Given the description of an element on the screen output the (x, y) to click on. 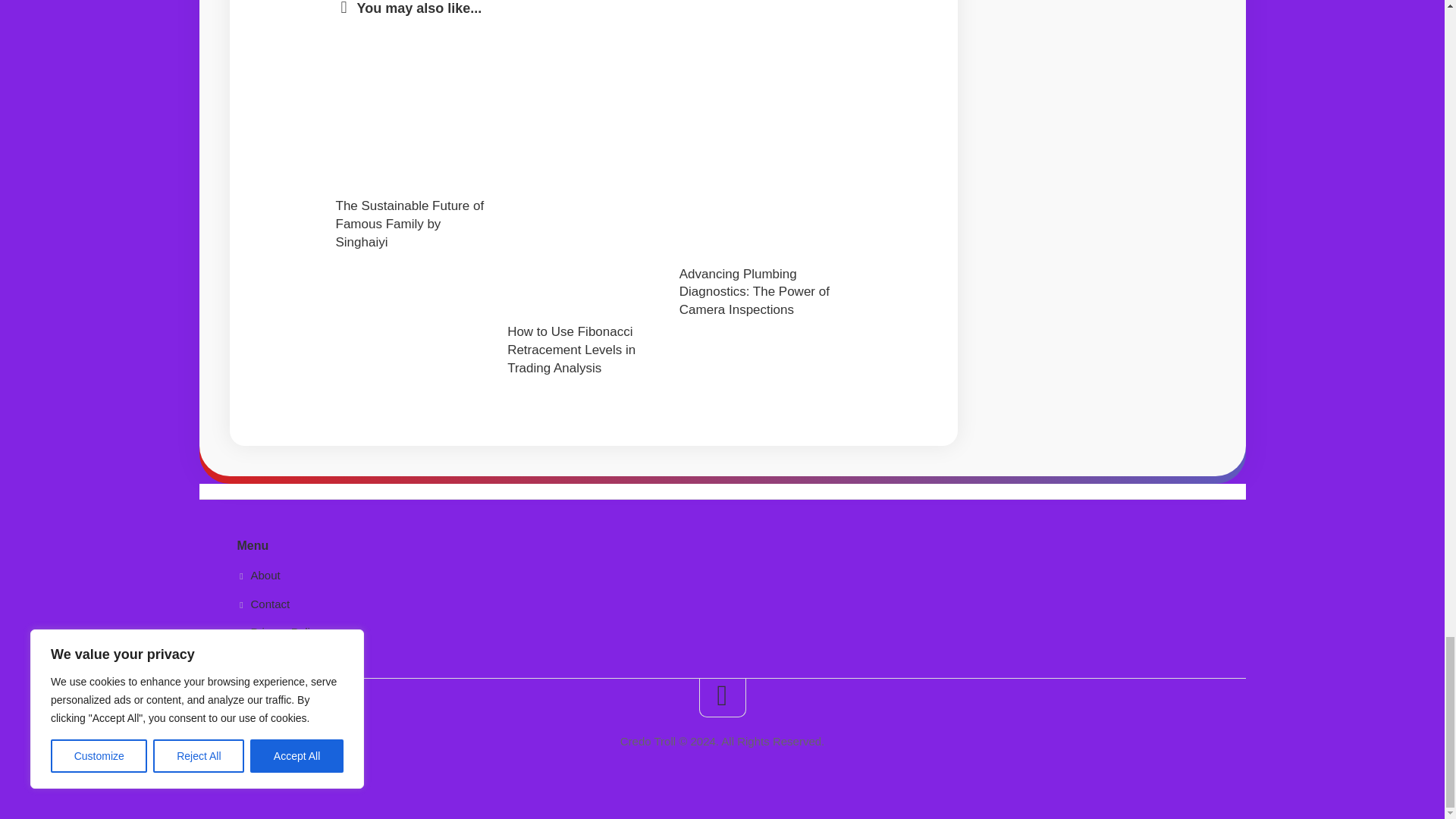
The Sustainable Future of Famous Family by Singhaiyi (408, 224)
How to Use Fibonacci Retracement Levels in Trading Analysis (570, 349)
